Given the description of an element on the screen output the (x, y) to click on. 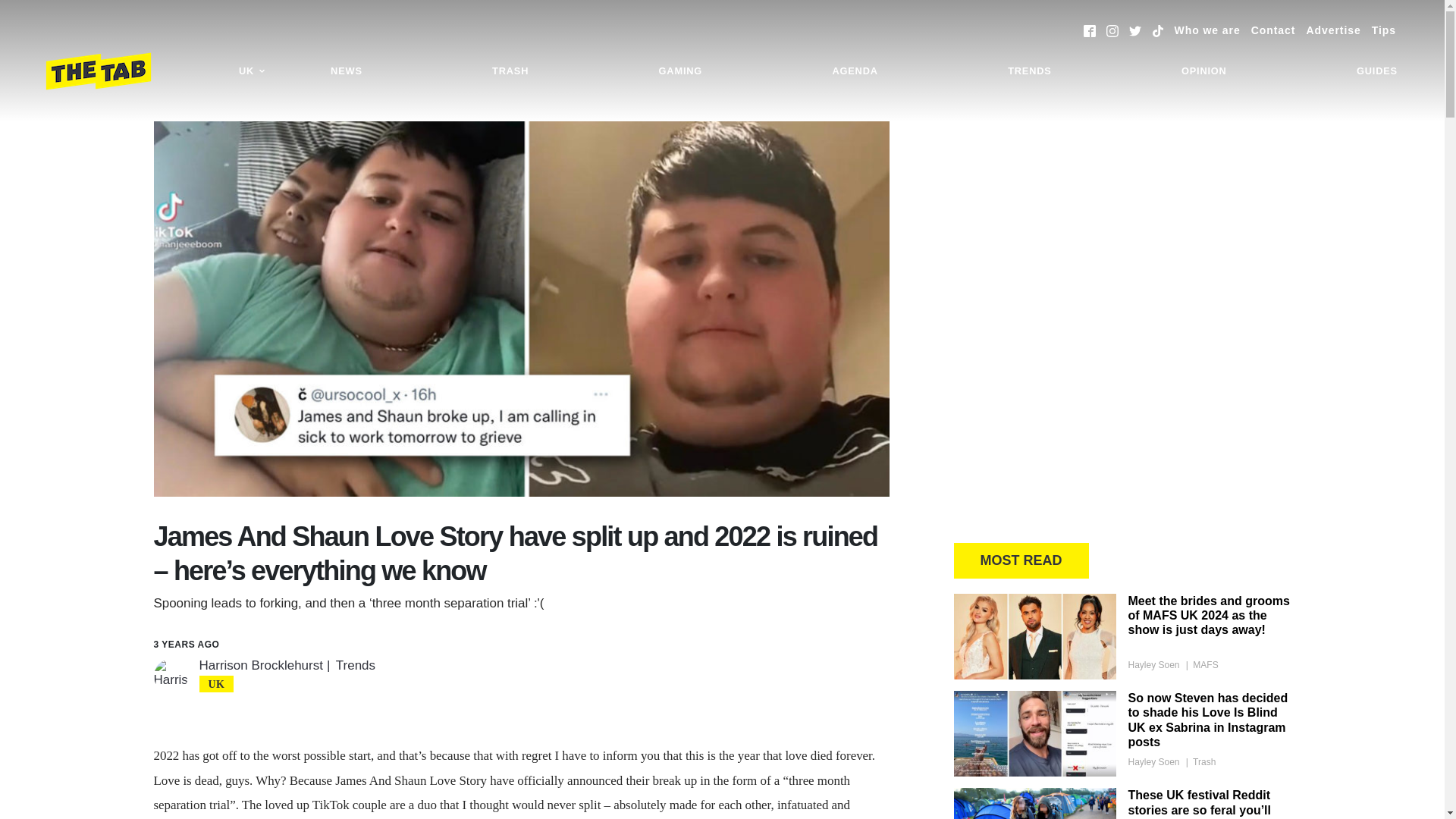
TRASH (510, 71)
OPINION (1204, 71)
NEWS (346, 71)
GUIDES (1377, 71)
UK (252, 71)
Contact (1272, 29)
GAMING (680, 71)
TRENDS (1028, 71)
AGENDA (854, 71)
Advertise (1332, 29)
